Given the description of an element on the screen output the (x, y) to click on. 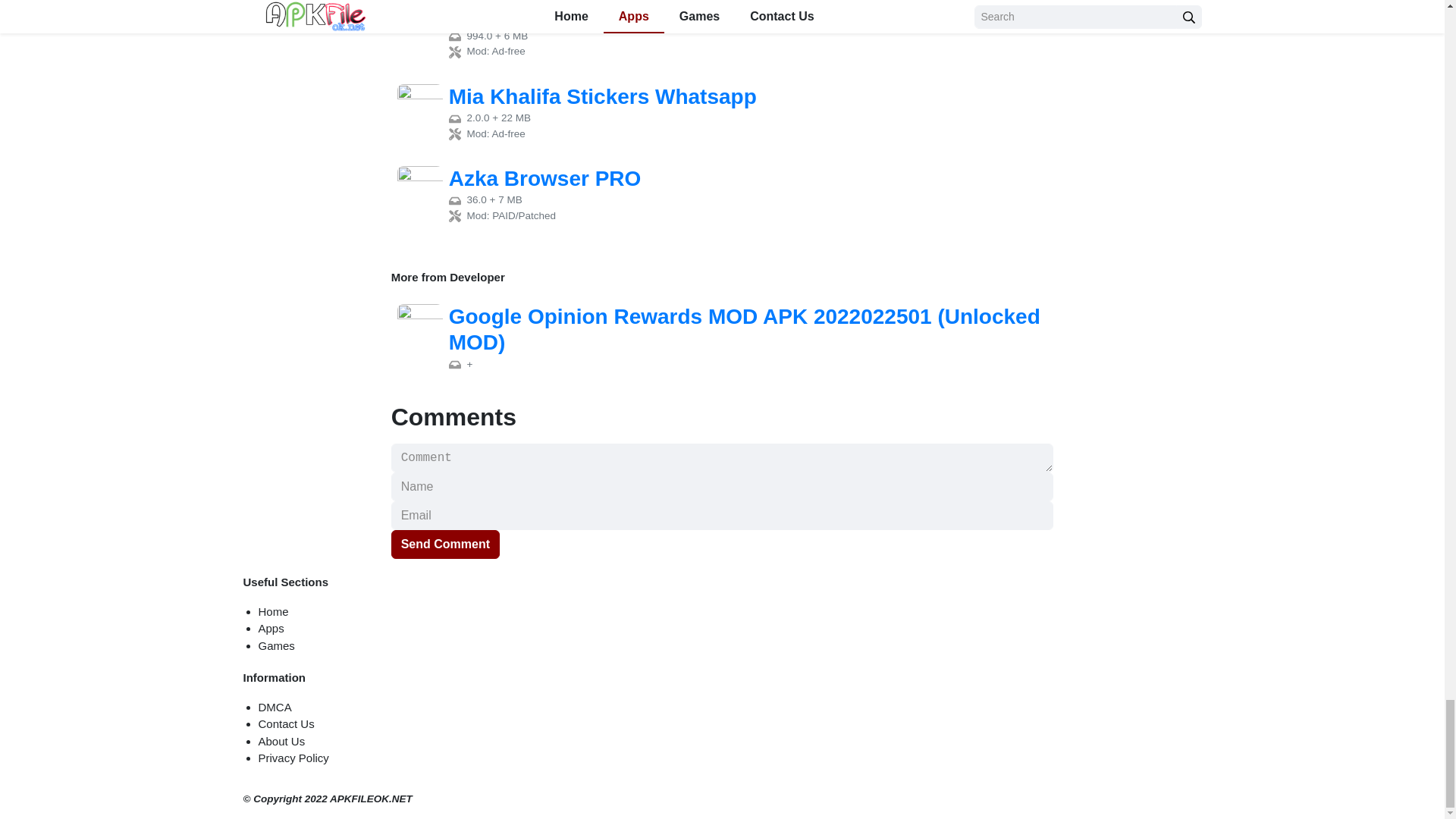
Apps (270, 627)
Home (272, 611)
Send Comment (445, 543)
Mia Khalifa Stickers Whatsapp APK Download For Android (722, 112)
